Given the description of an element on the screen output the (x, y) to click on. 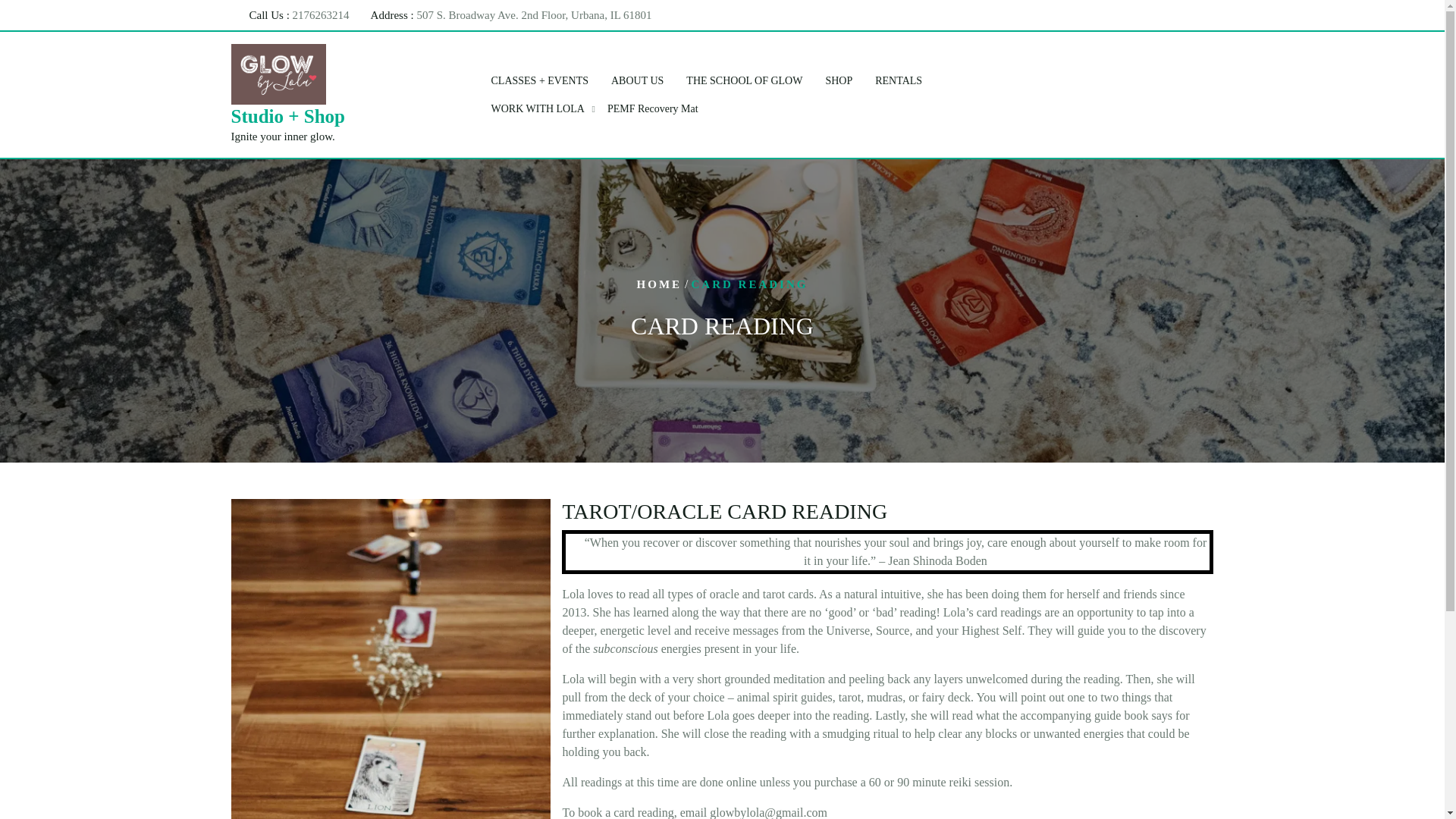
SHOP (838, 80)
WORK WITH LOLA (537, 108)
PEMF Recovery Mat (651, 108)
THE SCHOOL OF GLOW (744, 80)
ABOUT US (636, 80)
HOME (659, 284)
RENTALS (897, 80)
